Given the description of an element on the screen output the (x, y) to click on. 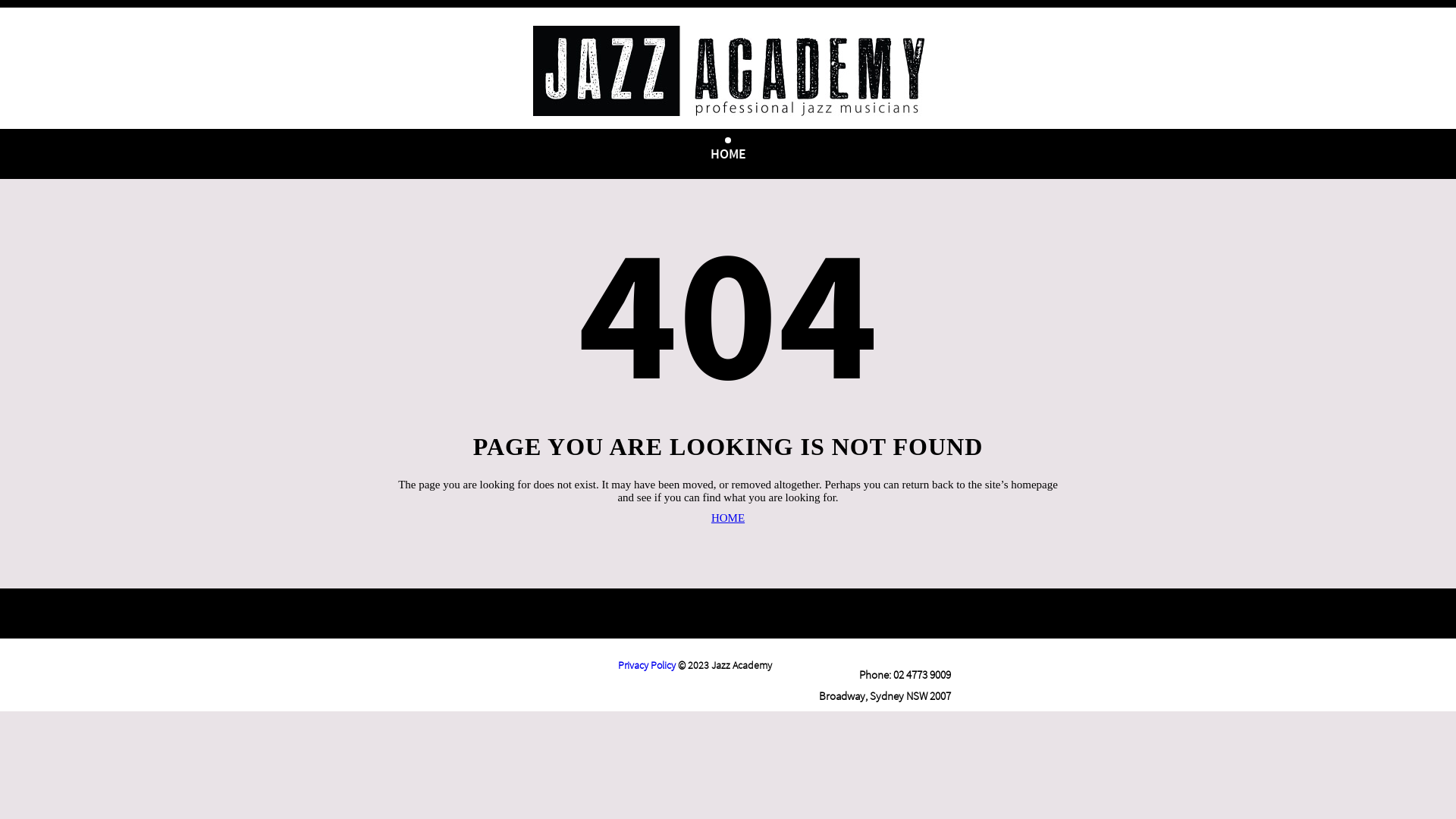
Privacy Policy Element type: text (646, 664)
HOME Element type: text (727, 153)
HOME Element type: text (727, 517)
